Given the description of an element on the screen output the (x, y) to click on. 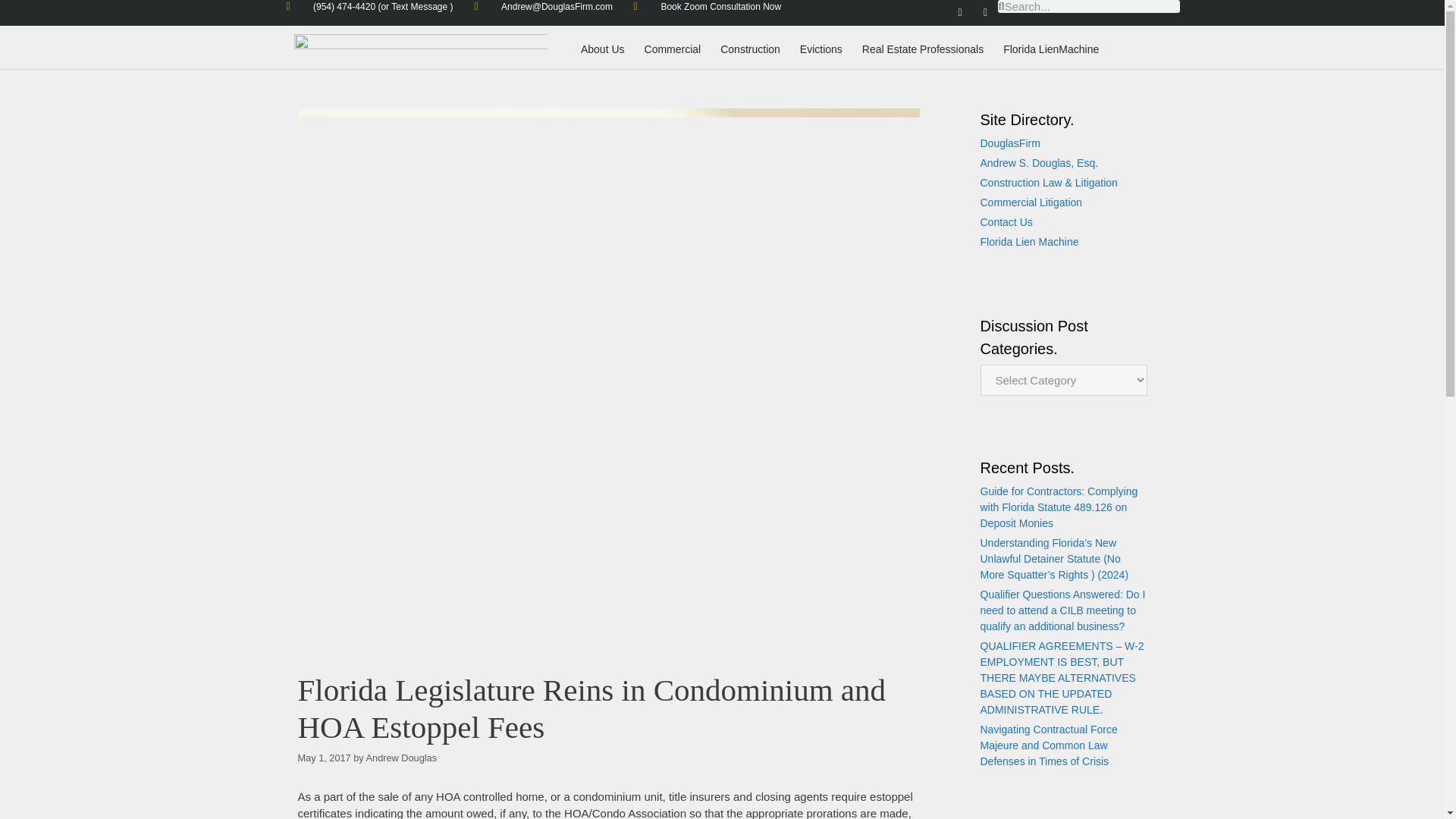
Construction (750, 49)
View all posts by Andrew Douglas (402, 757)
Andrew Douglas (402, 757)
Florida LienMachine (1050, 49)
Commercial (672, 49)
Book Zoom Consultation Now (706, 6)
Evictions (820, 49)
About Us (602, 49)
Real Estate Professionals (921, 49)
